Given the description of an element on the screen output the (x, y) to click on. 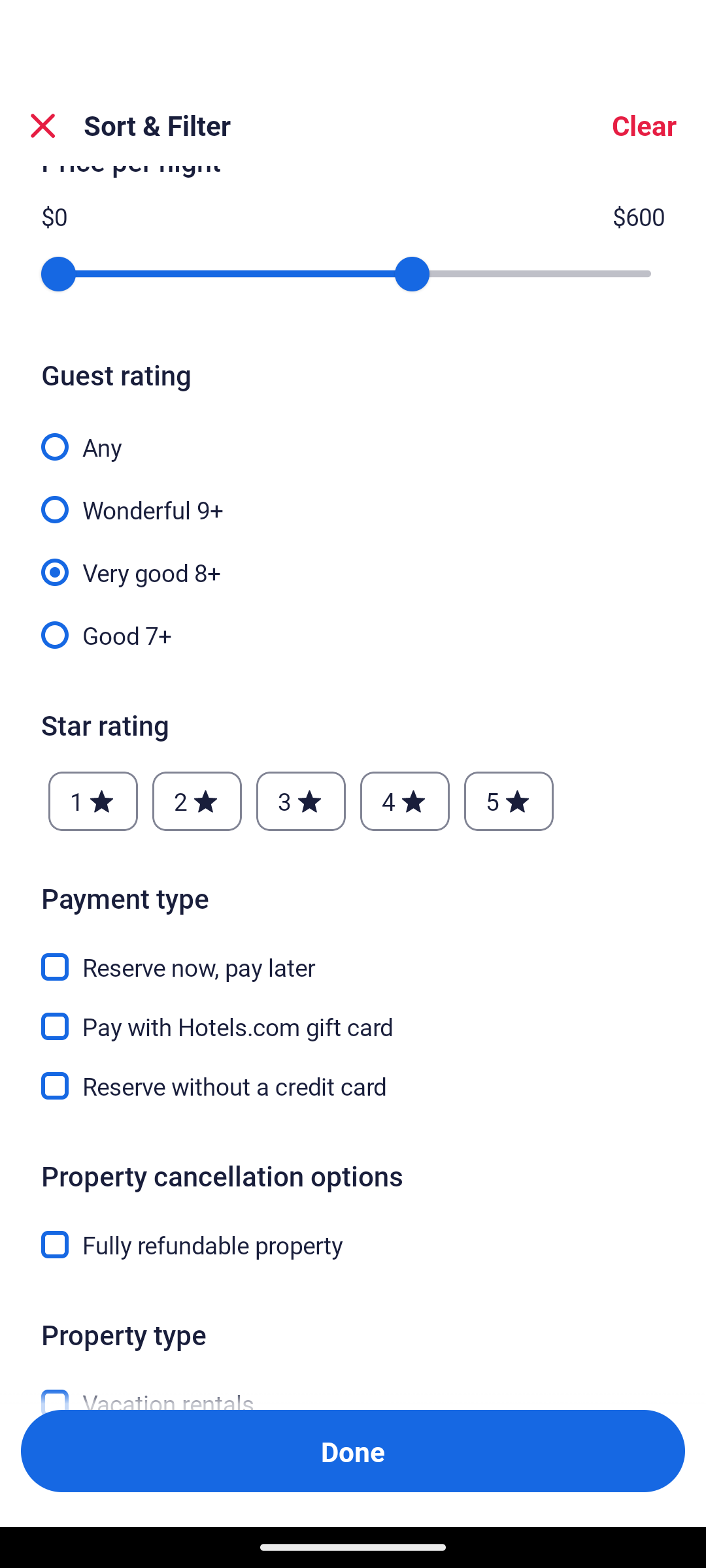
Clear (643, 125)
Close Sort and Filter (43, 125)
Any (352, 435)
Wonderful 9+ (352, 498)
Good 7+ (352, 633)
1 (92, 801)
2 (197, 801)
3 (300, 801)
4 (404, 801)
5 (508, 801)
Reserve now, pay later, Reserve now, pay later (352, 956)
Apply and close Sort and Filter Done (352, 1450)
